Given the description of an element on the screen output the (x, y) to click on. 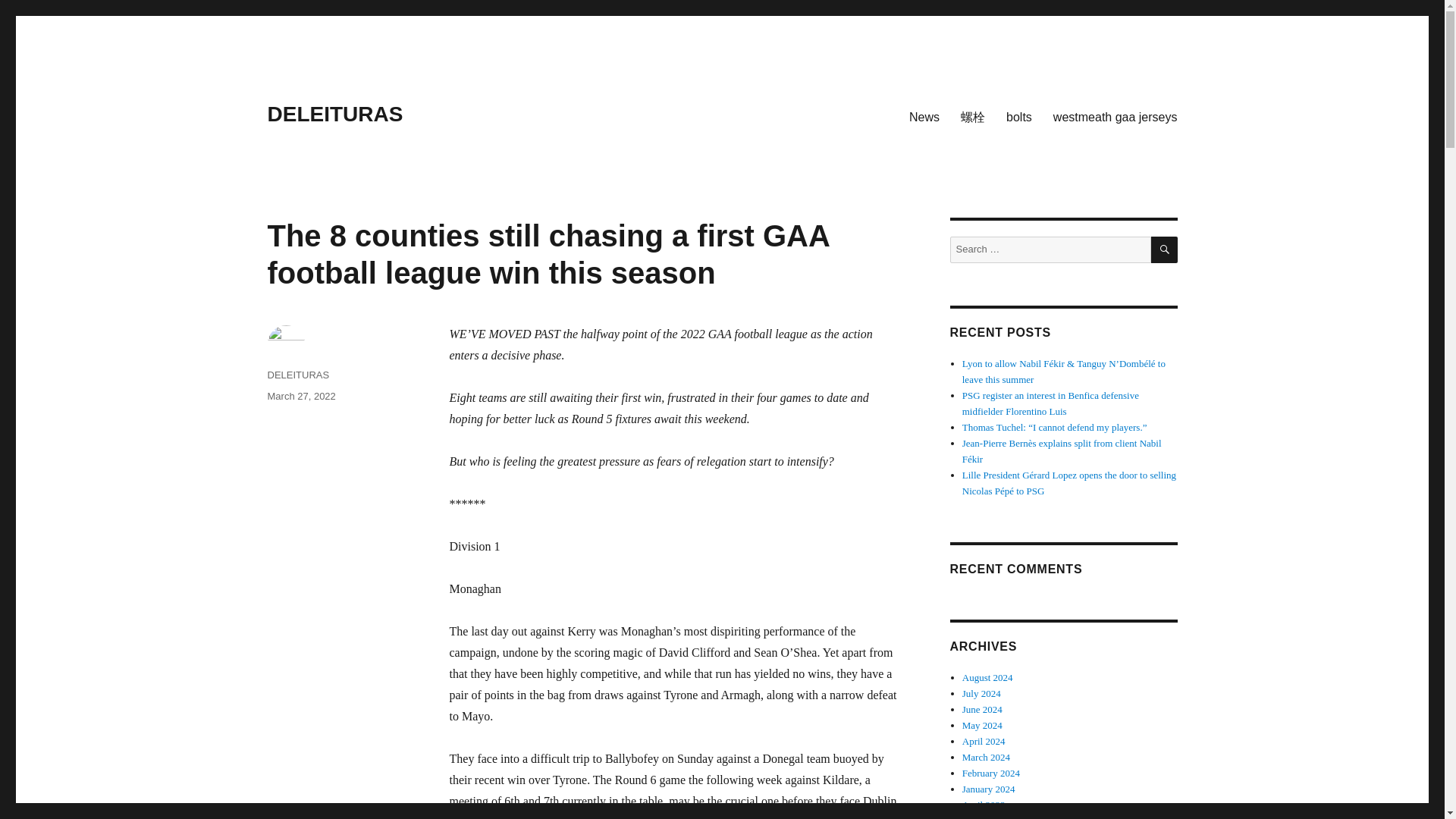
March 2024 (986, 756)
August 2024 (987, 677)
bolts (1018, 116)
News (924, 116)
March 27, 2022 (300, 396)
April 2023 (984, 804)
SEARCH (1164, 249)
January 2024 (988, 788)
July 2024 (981, 693)
March 2023 (986, 816)
May 2024 (982, 725)
DELEITURAS (297, 374)
westmeath gaa jerseys (1115, 116)
DELEITURAS (334, 114)
